Given the description of an element on the screen output the (x, y) to click on. 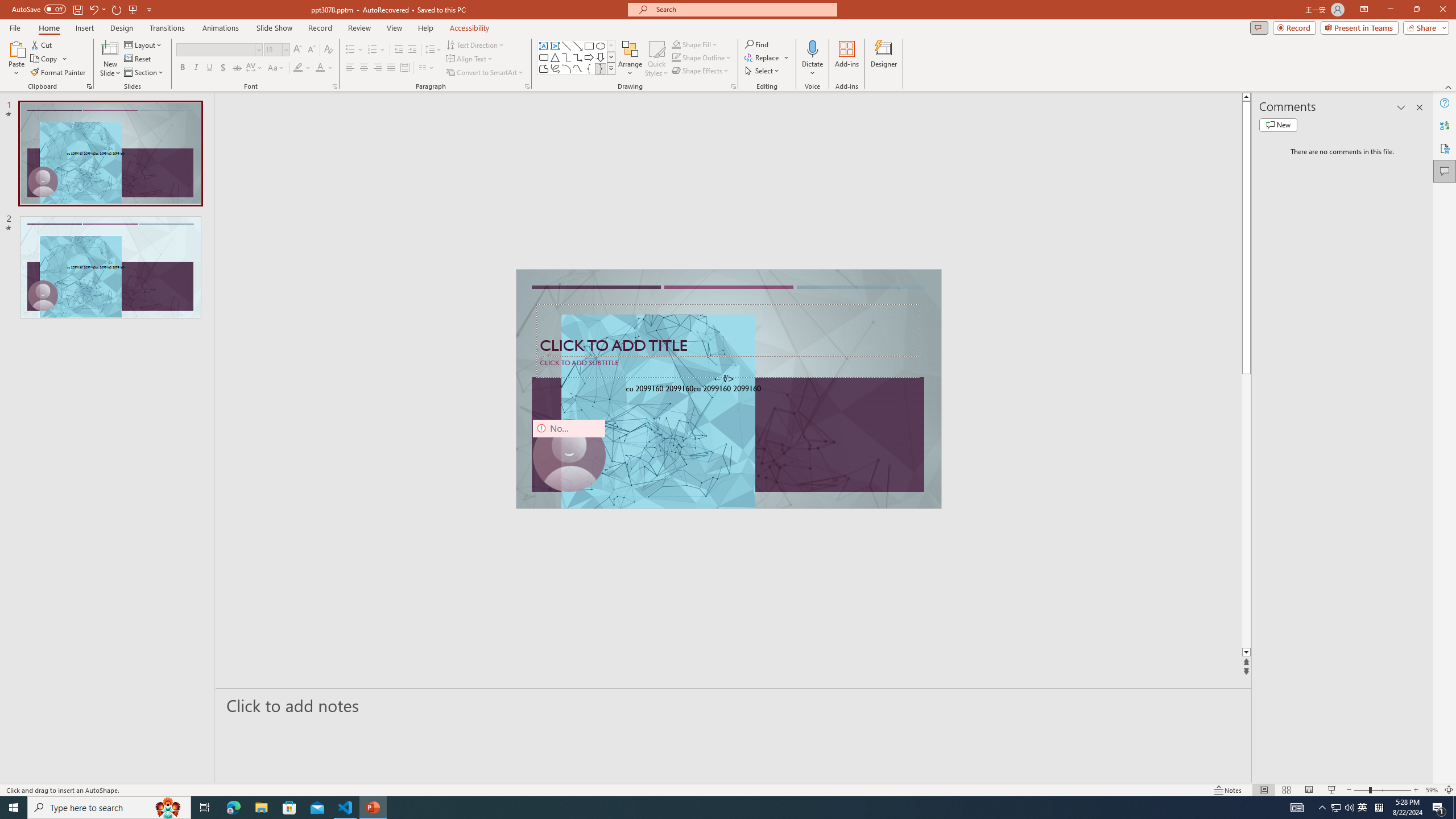
Select (762, 69)
Notes  (1227, 790)
Freeform: Shape (543, 68)
Oval (600, 45)
New Slide (110, 48)
New comment (1278, 124)
Dictate (812, 48)
Subtitle TextBox (727, 366)
Designer (883, 58)
Microsoft search (742, 9)
